Given the description of an element on the screen output the (x, y) to click on. 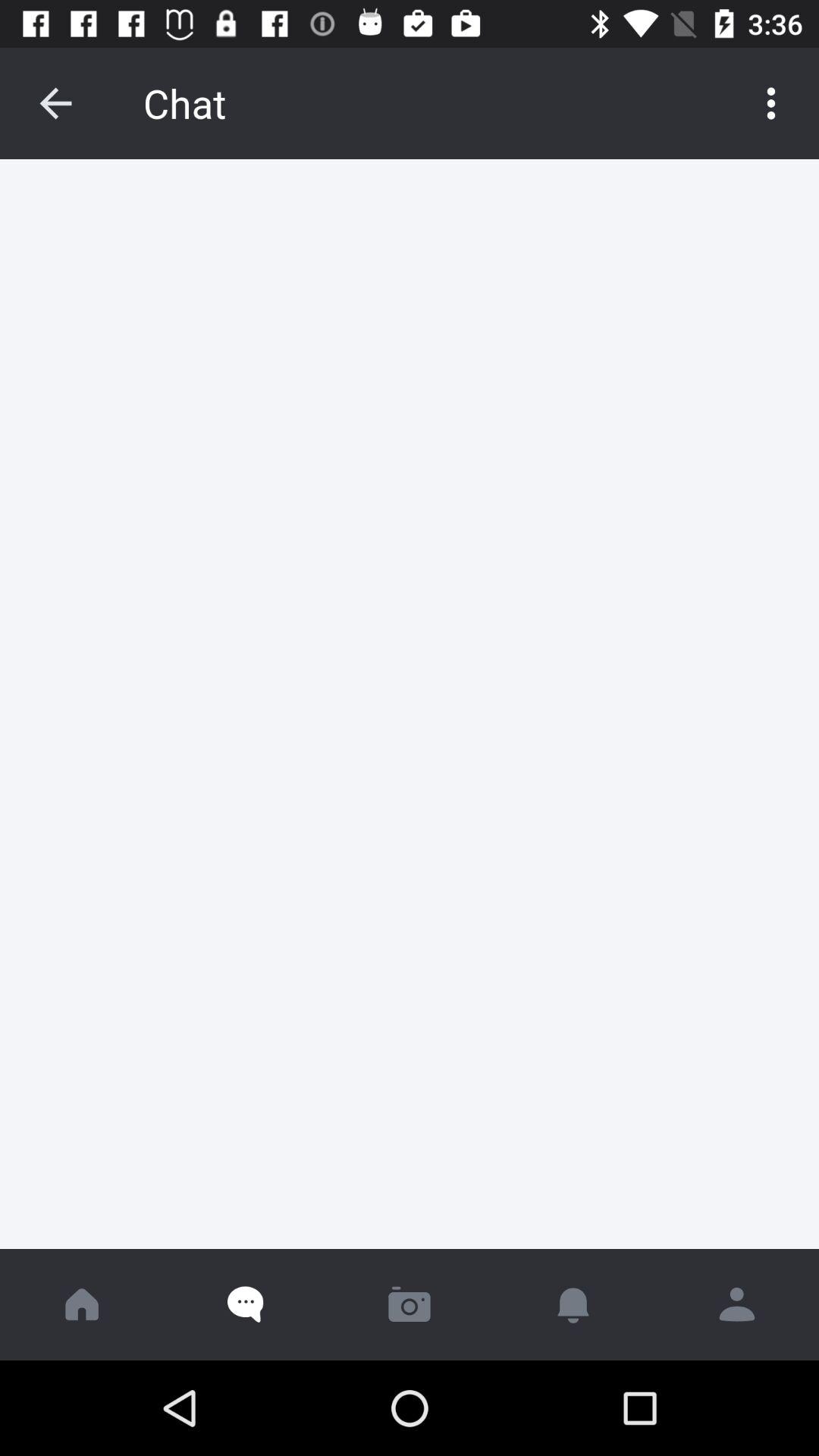
click the item at the top right corner (771, 103)
